Given the description of an element on the screen output the (x, y) to click on. 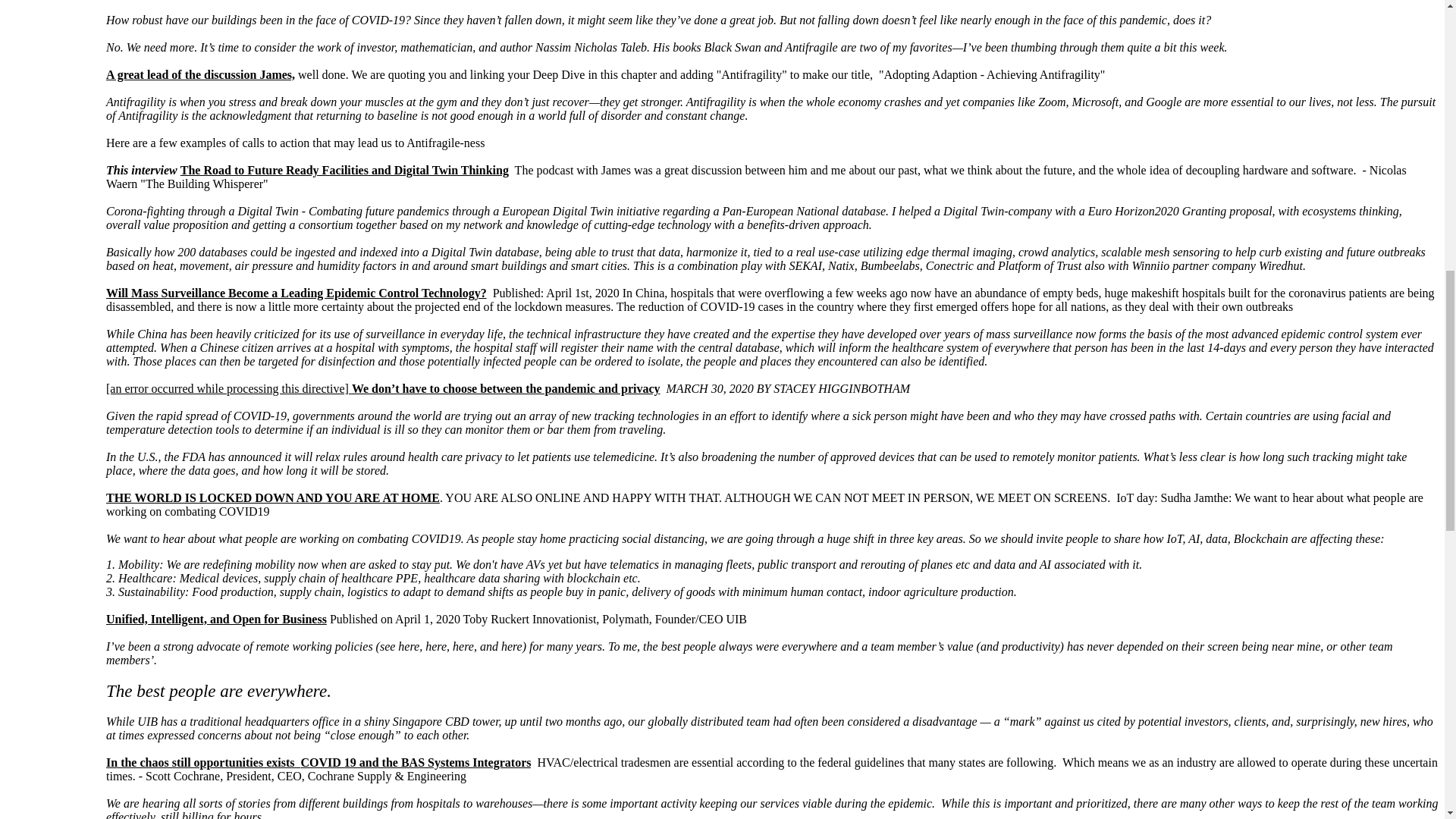
Unified, Intelligent, and Open for Business (216, 618)
THE WORLD IS LOCKED DOWN AND YOU ARE AT HOME (272, 497)
In the chaos still opportunities exists  (202, 762)
A great lead of the discussion James, (200, 74)
COVID 19 and the BAS Systems Integrators (415, 762)
